Given the description of an element on the screen output the (x, y) to click on. 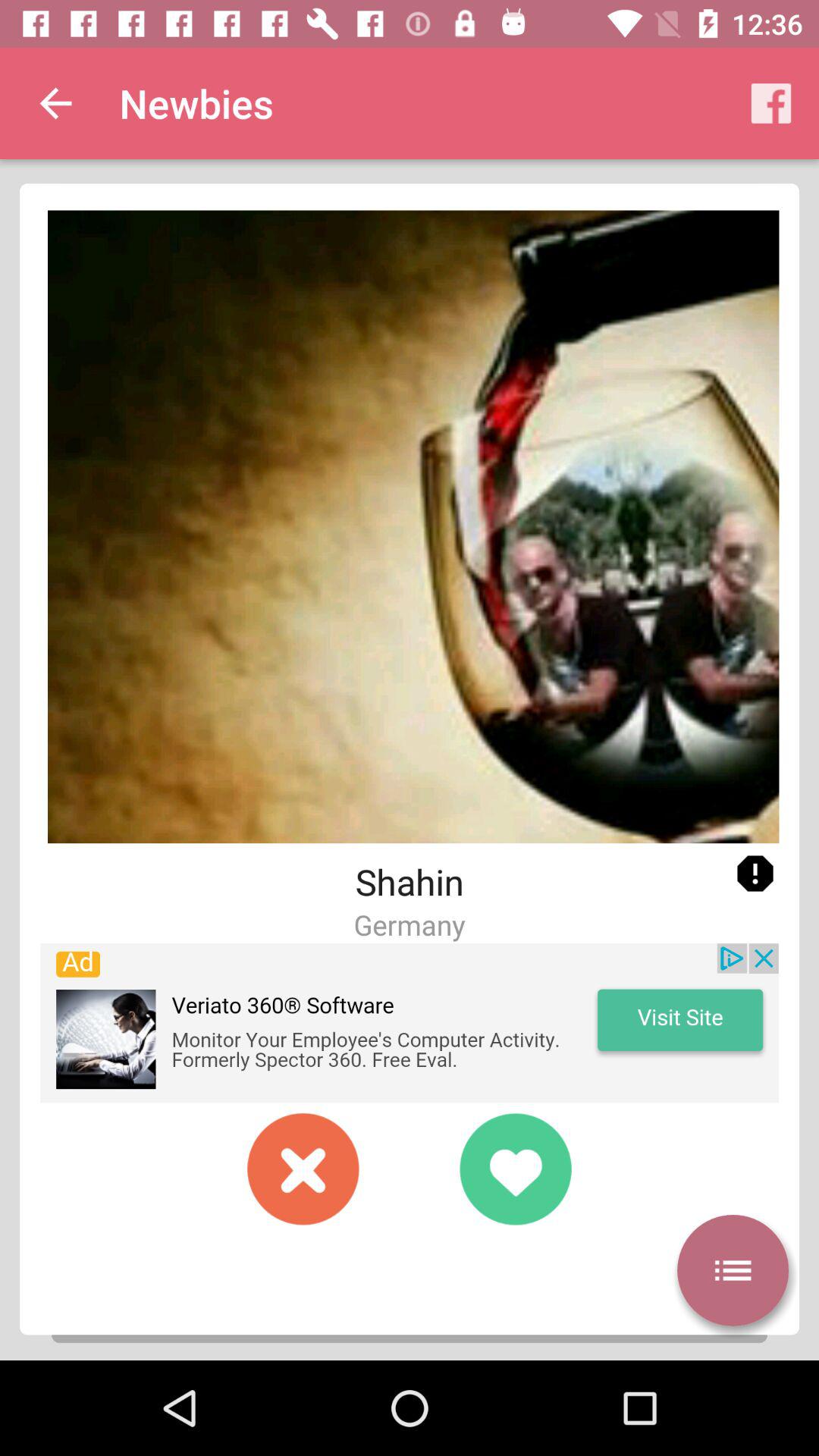
information (755, 873)
